Given the description of an element on the screen output the (x, y) to click on. 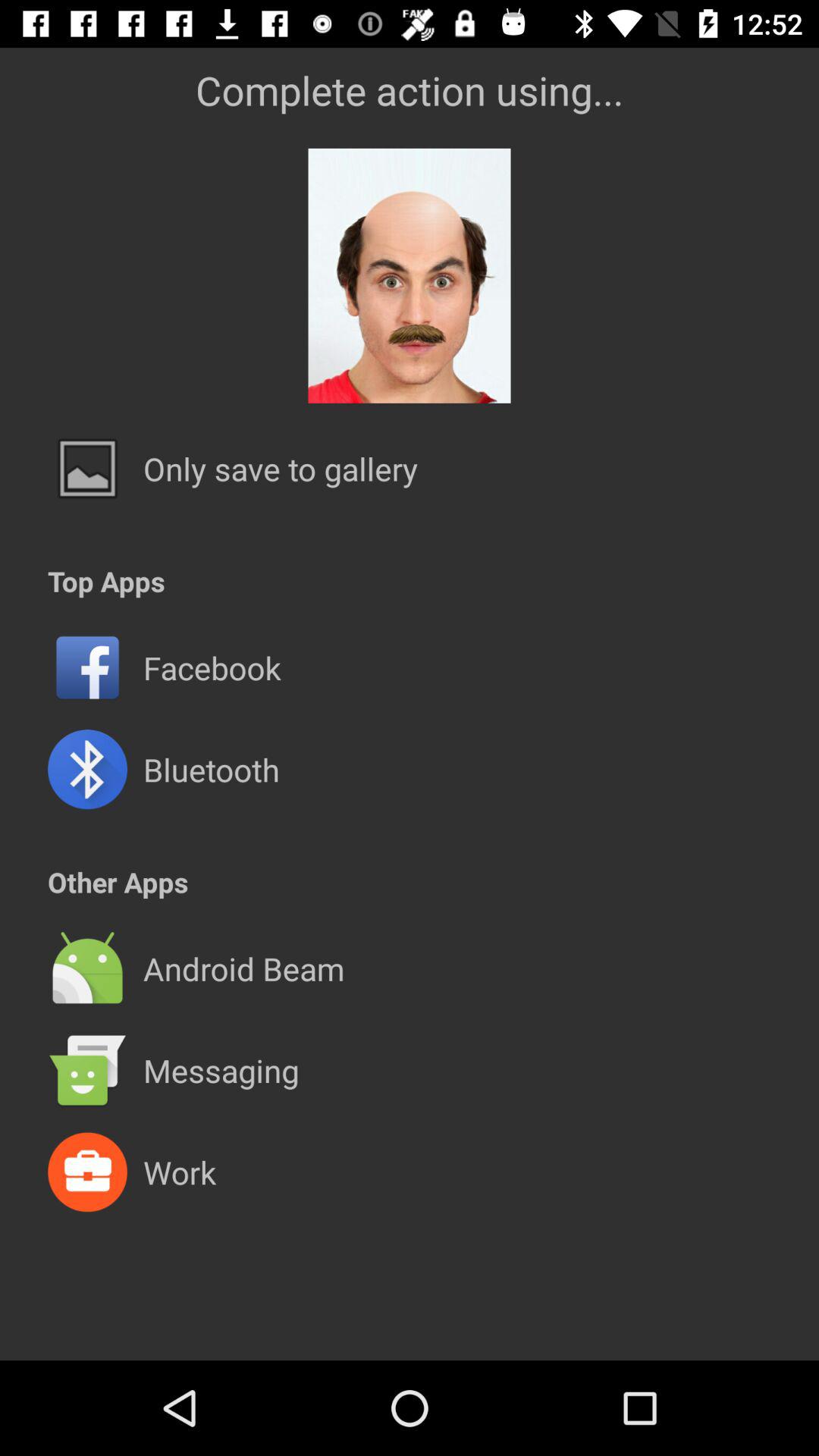
jump until the other apps (117, 881)
